Given the description of an element on the screen output the (x, y) to click on. 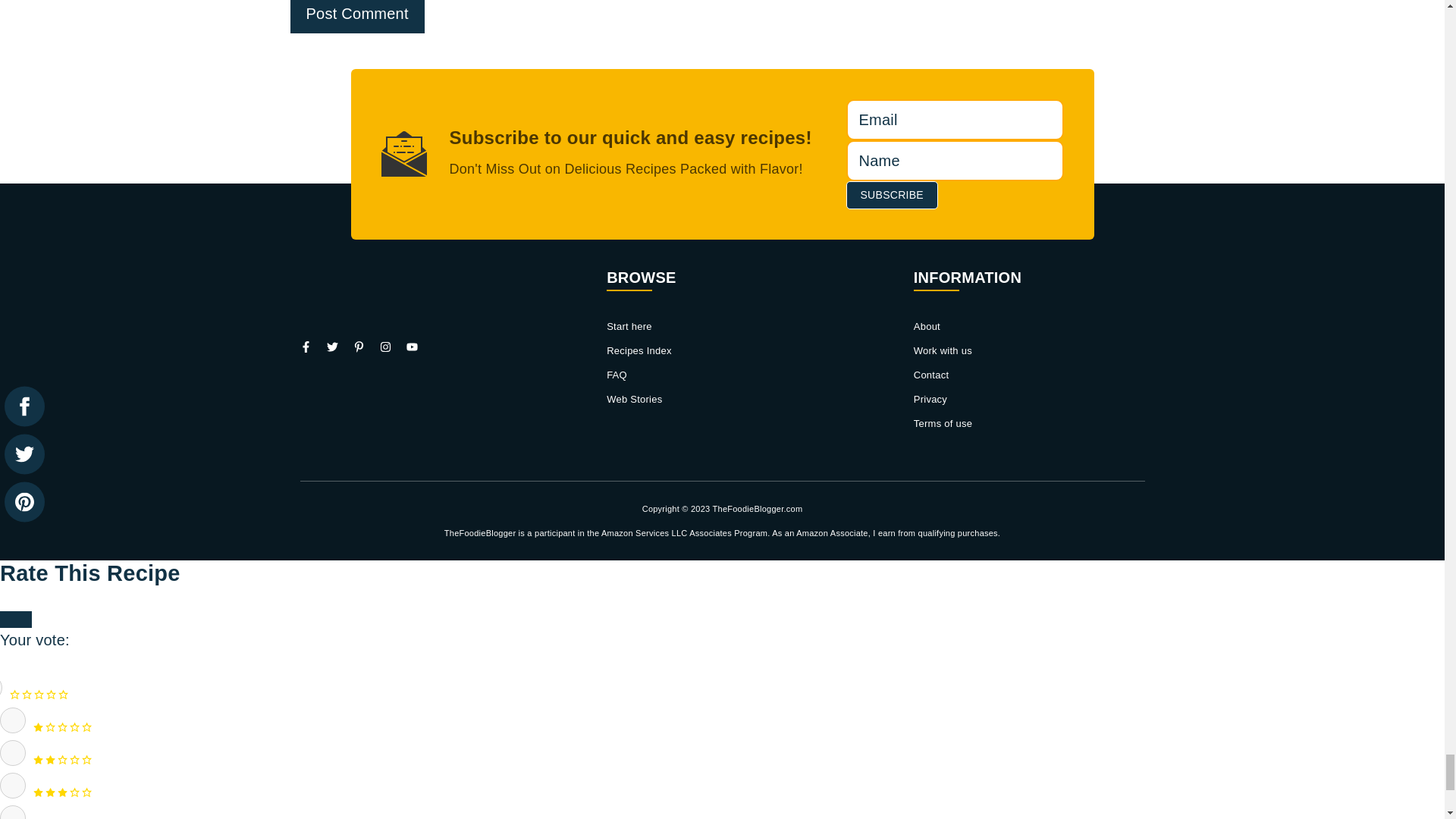
Post Comment (356, 16)
2 (13, 752)
3 (13, 785)
4 (13, 812)
1 (13, 720)
